Given the description of an element on the screen output the (x, y) to click on. 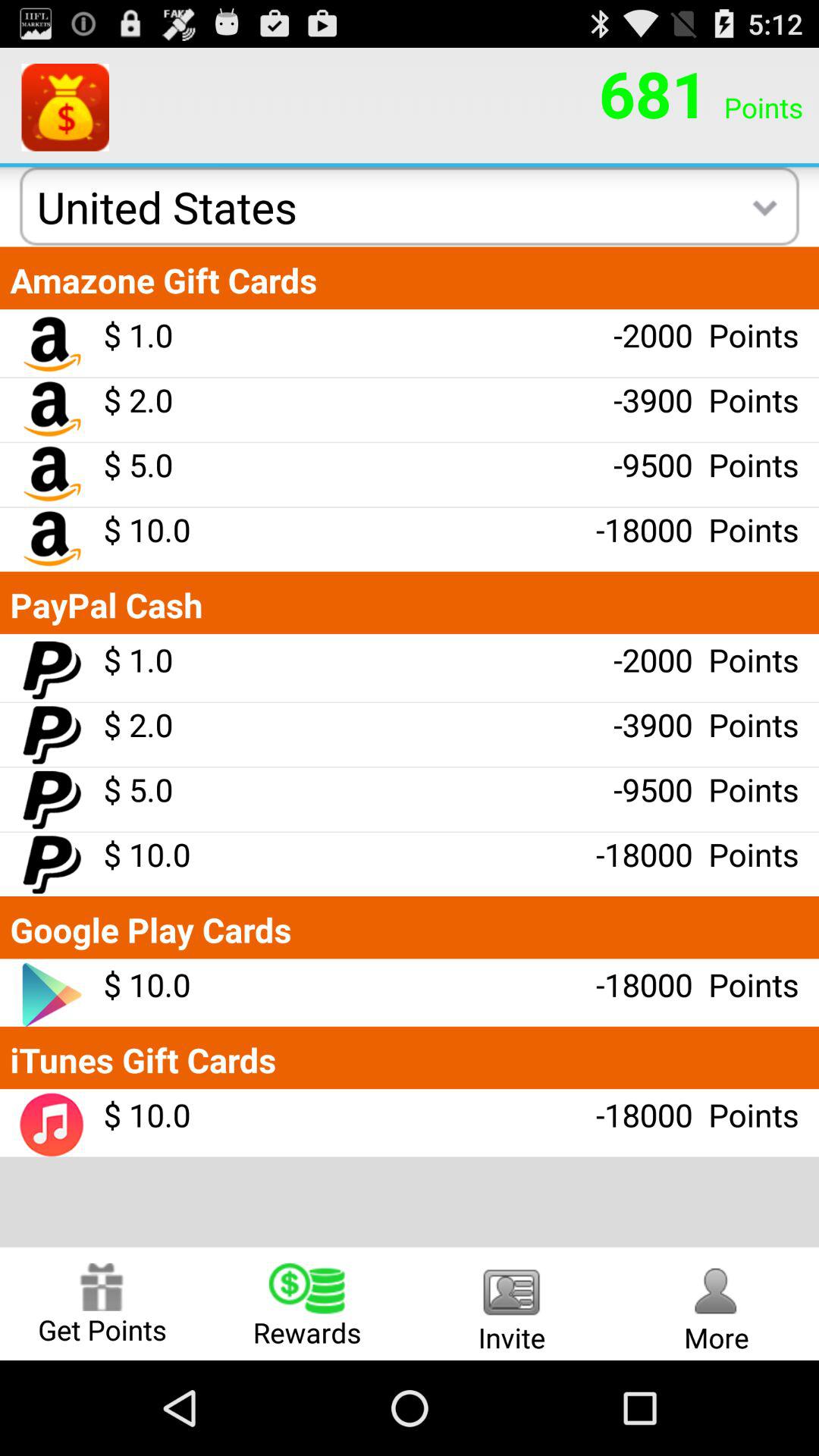
press icon below $ 10.0 (306, 1303)
